Given the description of an element on the screen output the (x, y) to click on. 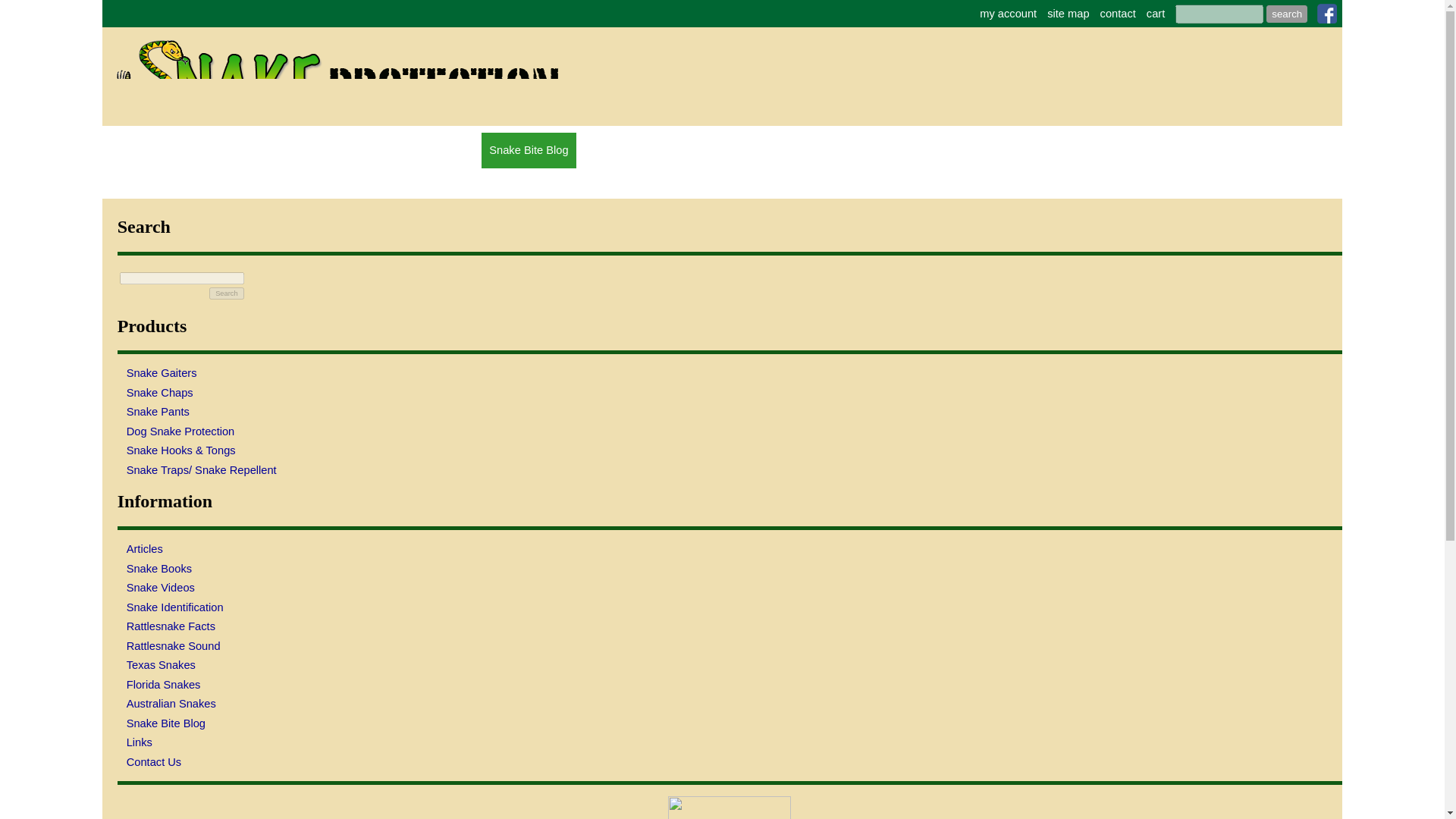
Dog Snake Protection (729, 431)
Links (729, 742)
Snake Pants (729, 412)
About Us (450, 150)
Search (226, 293)
Snake Books (729, 569)
search (1286, 13)
search (1286, 13)
Snake Videos (729, 587)
Contact Us (729, 762)
